Given the description of an element on the screen output the (x, y) to click on. 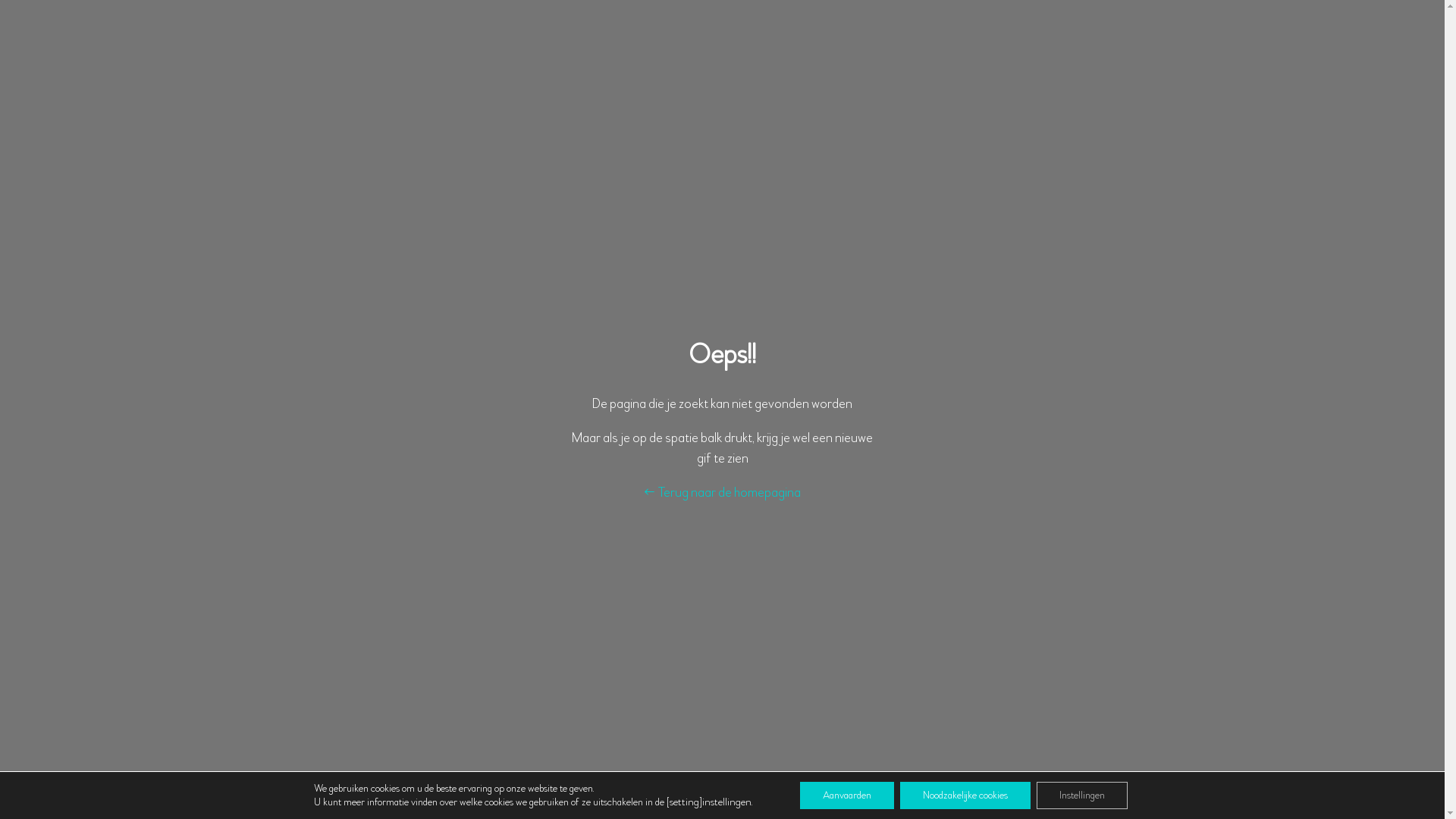
Instellingen Element type: text (1081, 795)
Noodzakelijke cookies Element type: text (965, 795)
Aanvaarden Element type: text (847, 795)
